Given the description of an element on the screen output the (x, y) to click on. 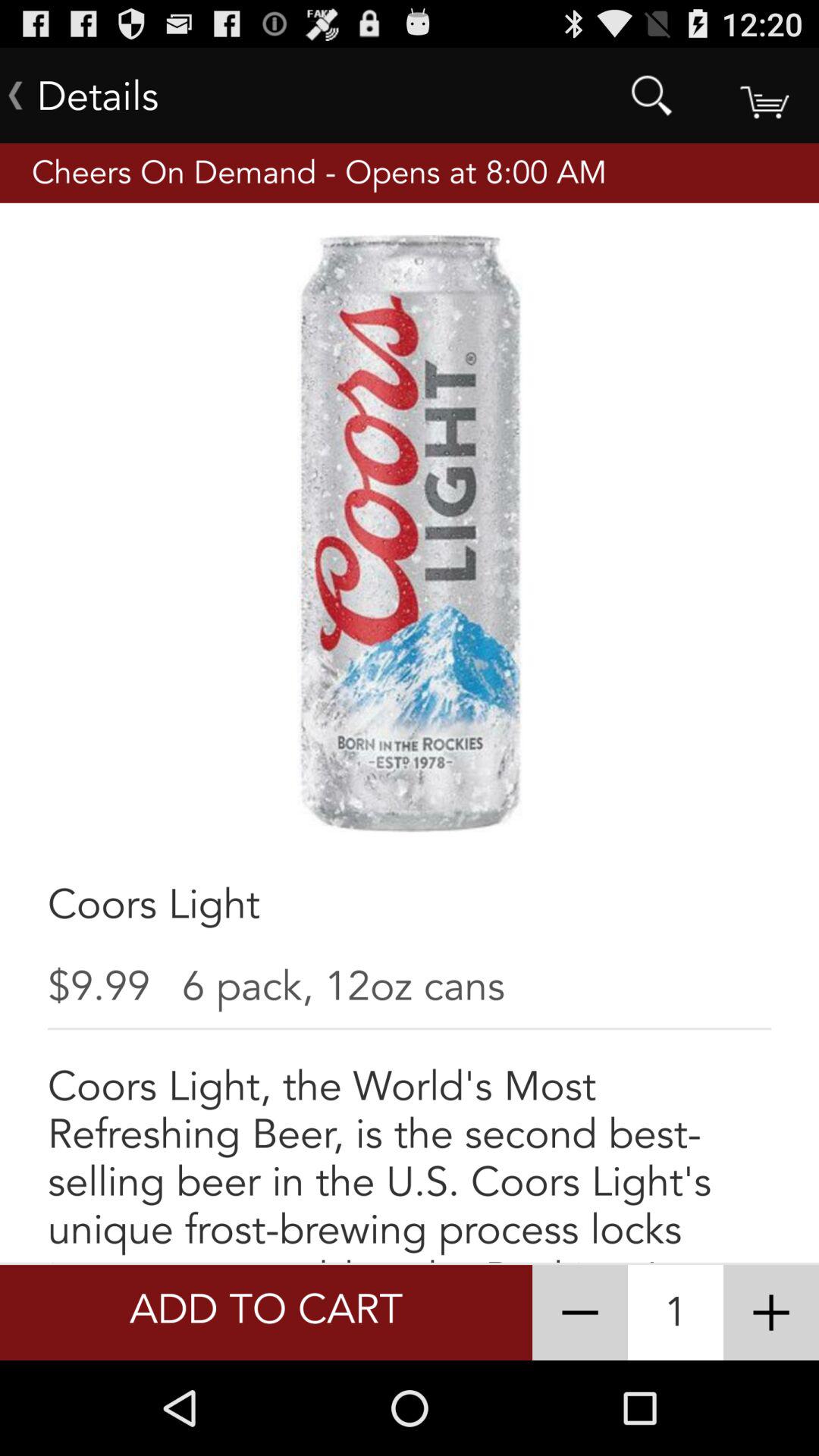
turn off item next to add to cart (579, 1312)
